Given the description of an element on the screen output the (x, y) to click on. 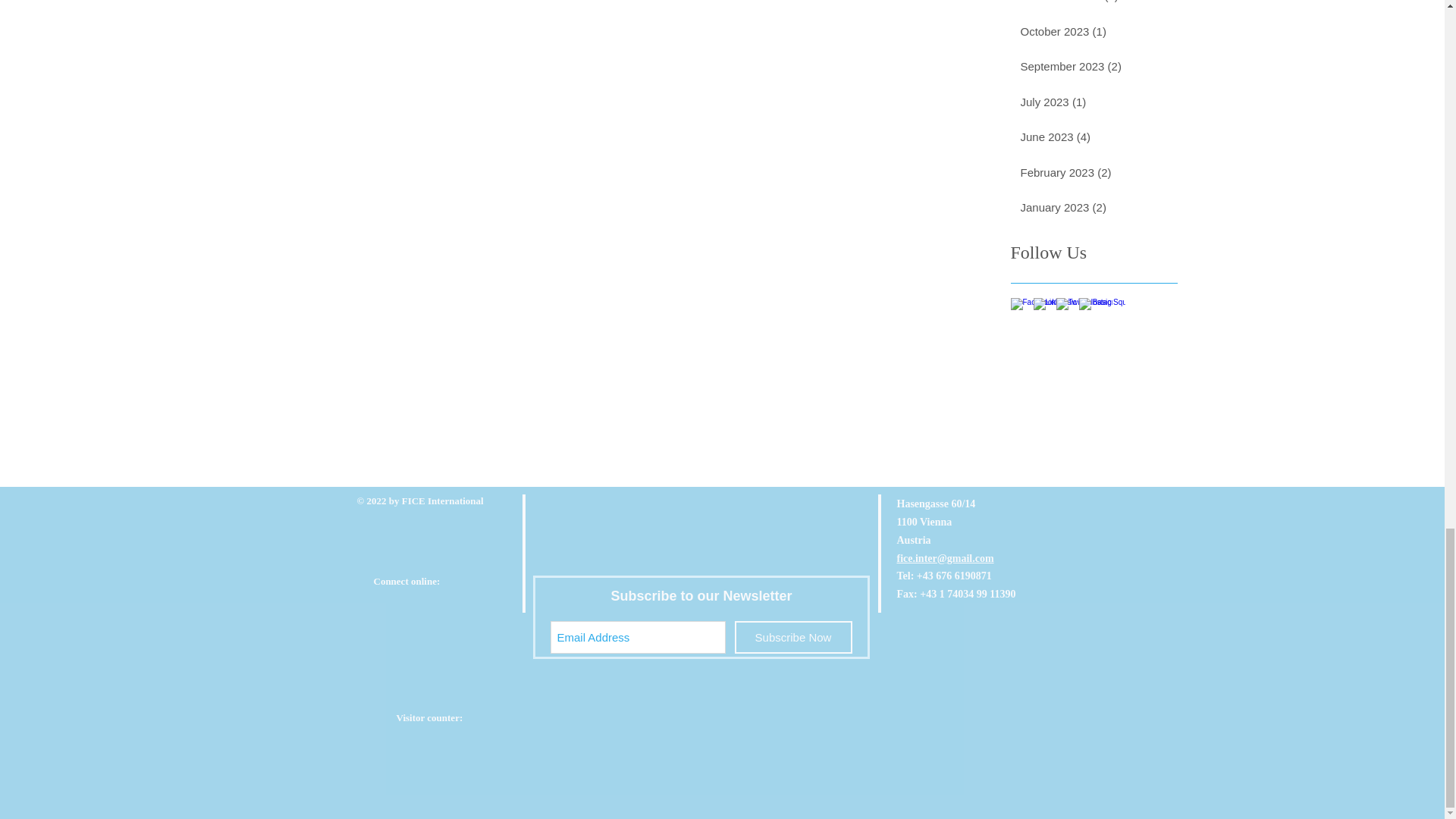
Subscribe Now (792, 636)
